Given the description of an element on the screen output the (x, y) to click on. 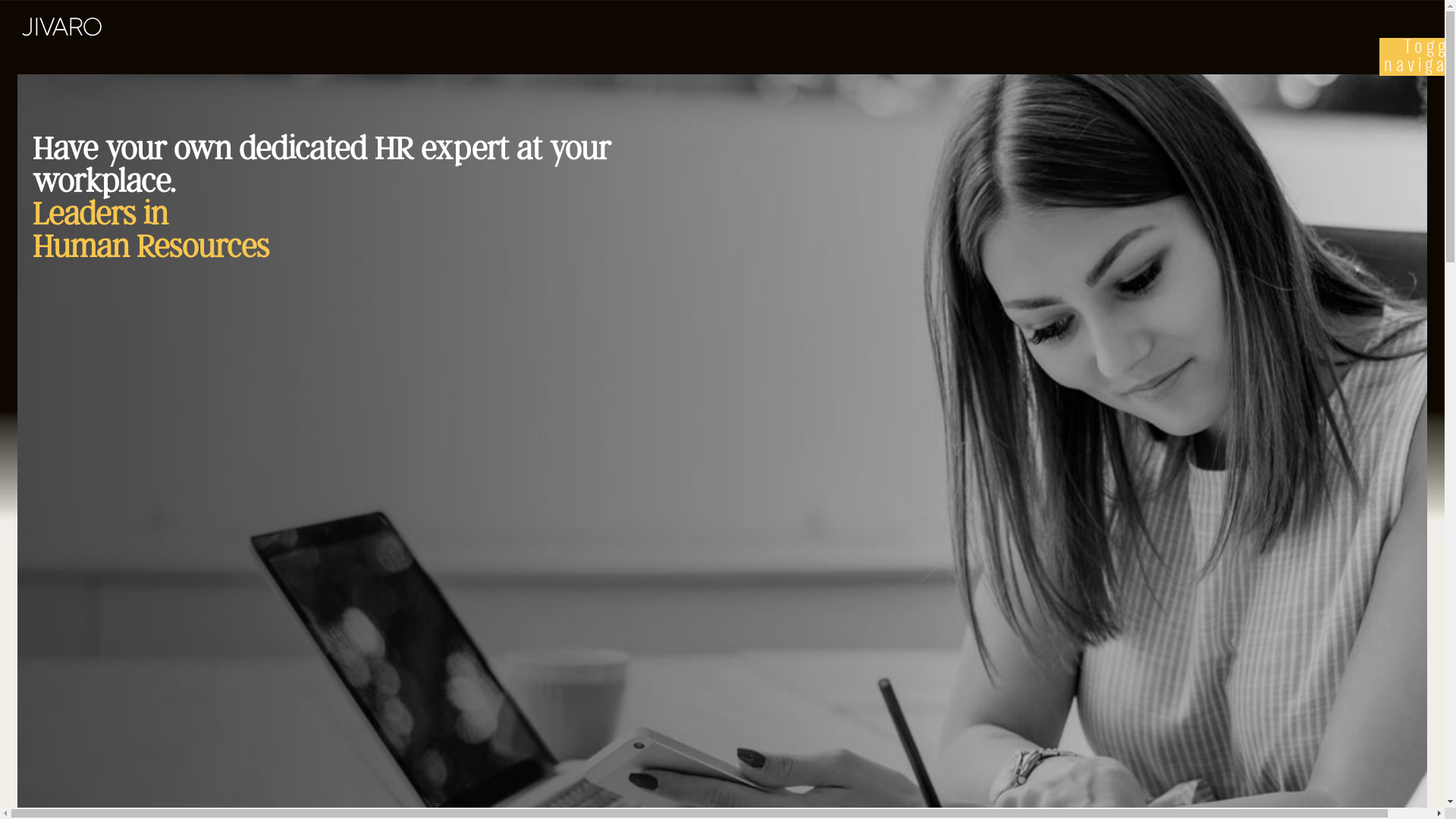
Skip to main content Element type: text (6, 10)
